Given the description of an element on the screen output the (x, y) to click on. 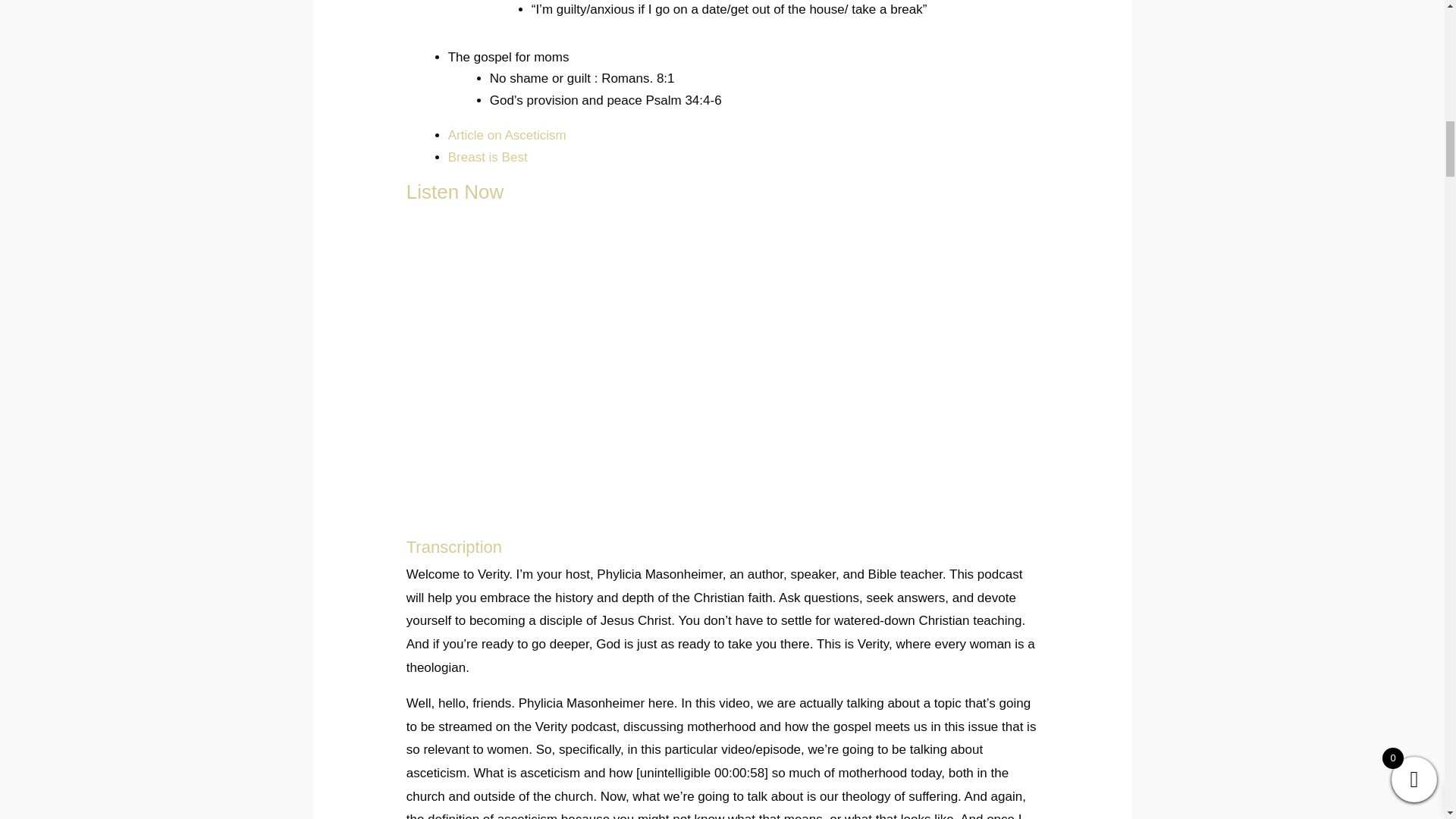
Article on Asceticism (507, 134)
Breast is Best (487, 156)
